Given the description of an element on the screen output the (x, y) to click on. 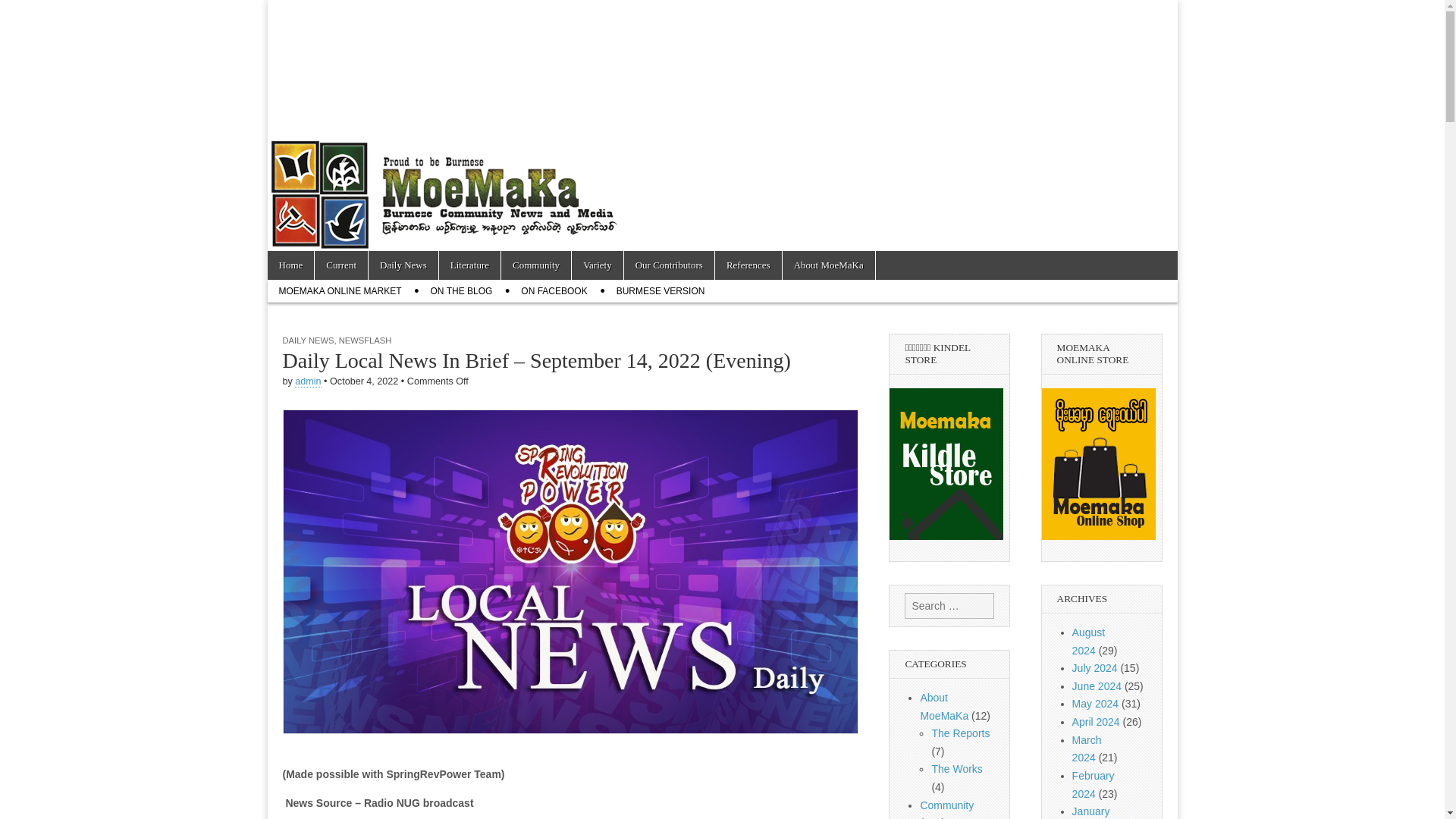
Literature (469, 265)
Current (341, 265)
NEWSFLASH (365, 339)
The Reports of MoeMaKa (960, 733)
Search (23, 12)
MOEMAKA ONLINE MARKET (339, 291)
Home (290, 265)
About MoeMaKa (829, 265)
References (747, 265)
